Given the description of an element on the screen output the (x, y) to click on. 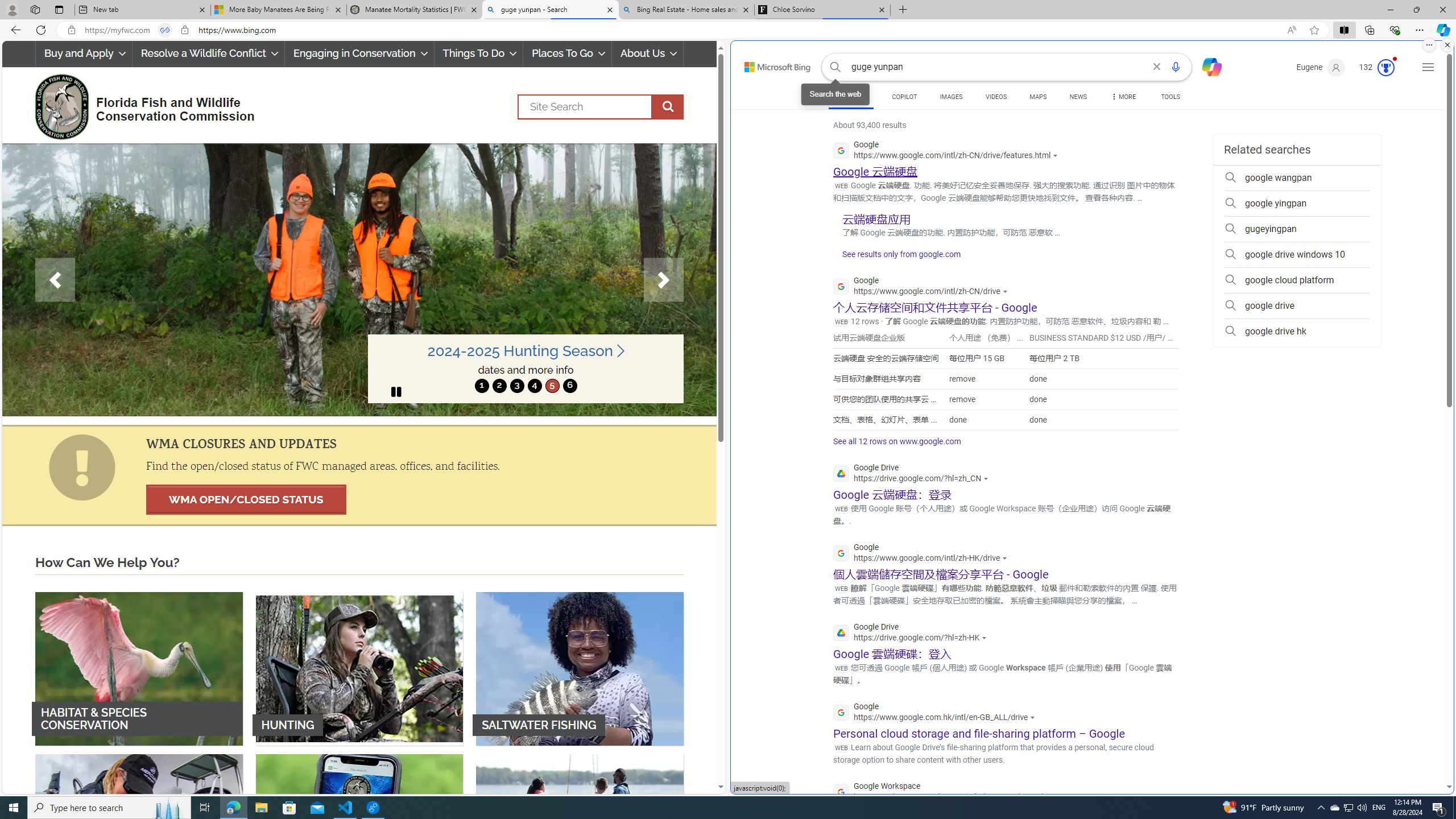
Chloe Sorvino (822, 9)
TOOLS (1171, 98)
VIDEOS (995, 96)
MORE (1123, 98)
HUNTING (358, 668)
See results only from google.com (896, 257)
Previous (54, 279)
move to slide 4 (534, 385)
SEARCH (850, 96)
FWC Logo (61, 106)
4 (534, 385)
